Given the description of an element on the screen output the (x, y) to click on. 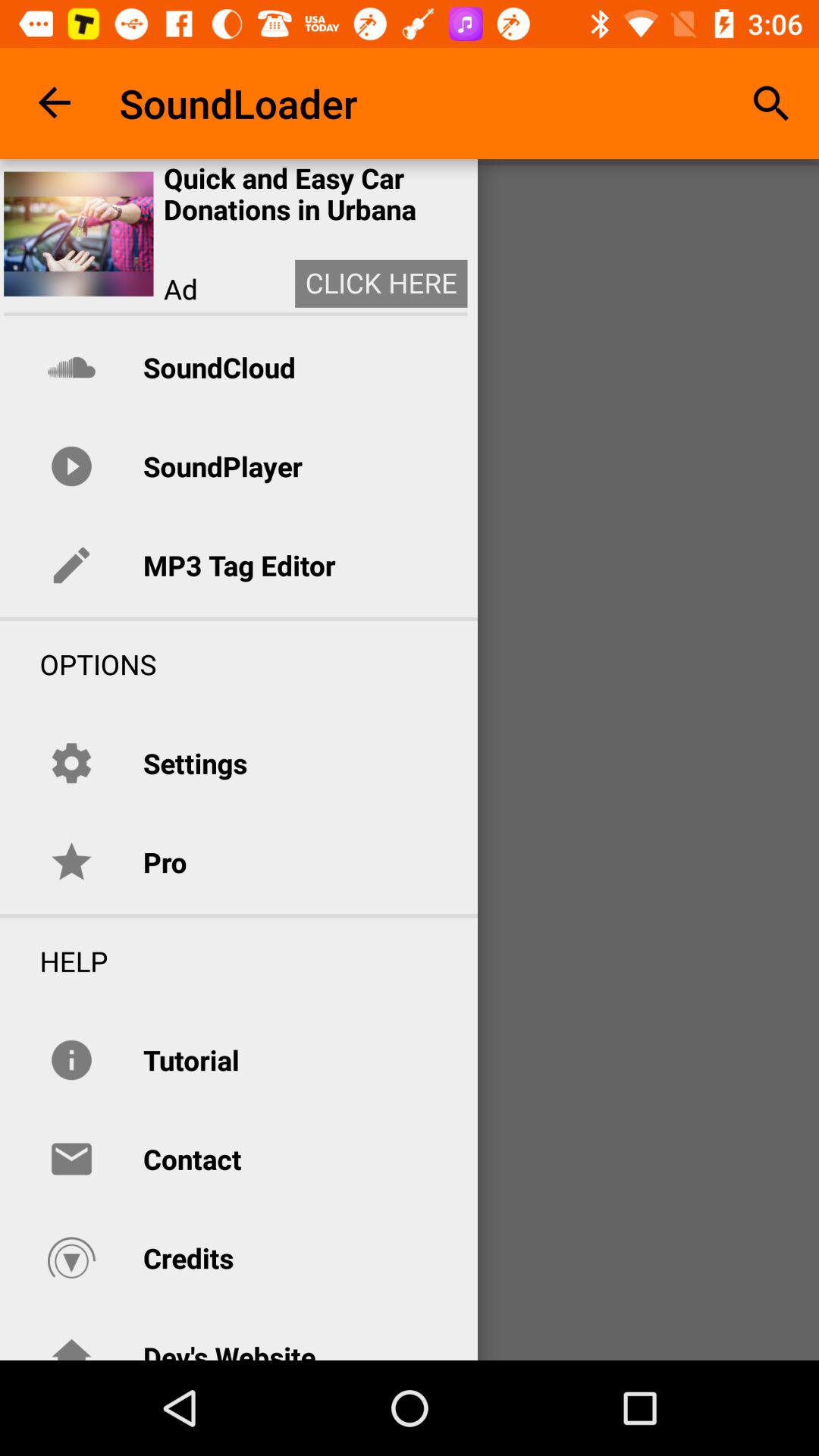
select the item above the contact item (191, 1059)
